Given the description of an element on the screen output the (x, y) to click on. 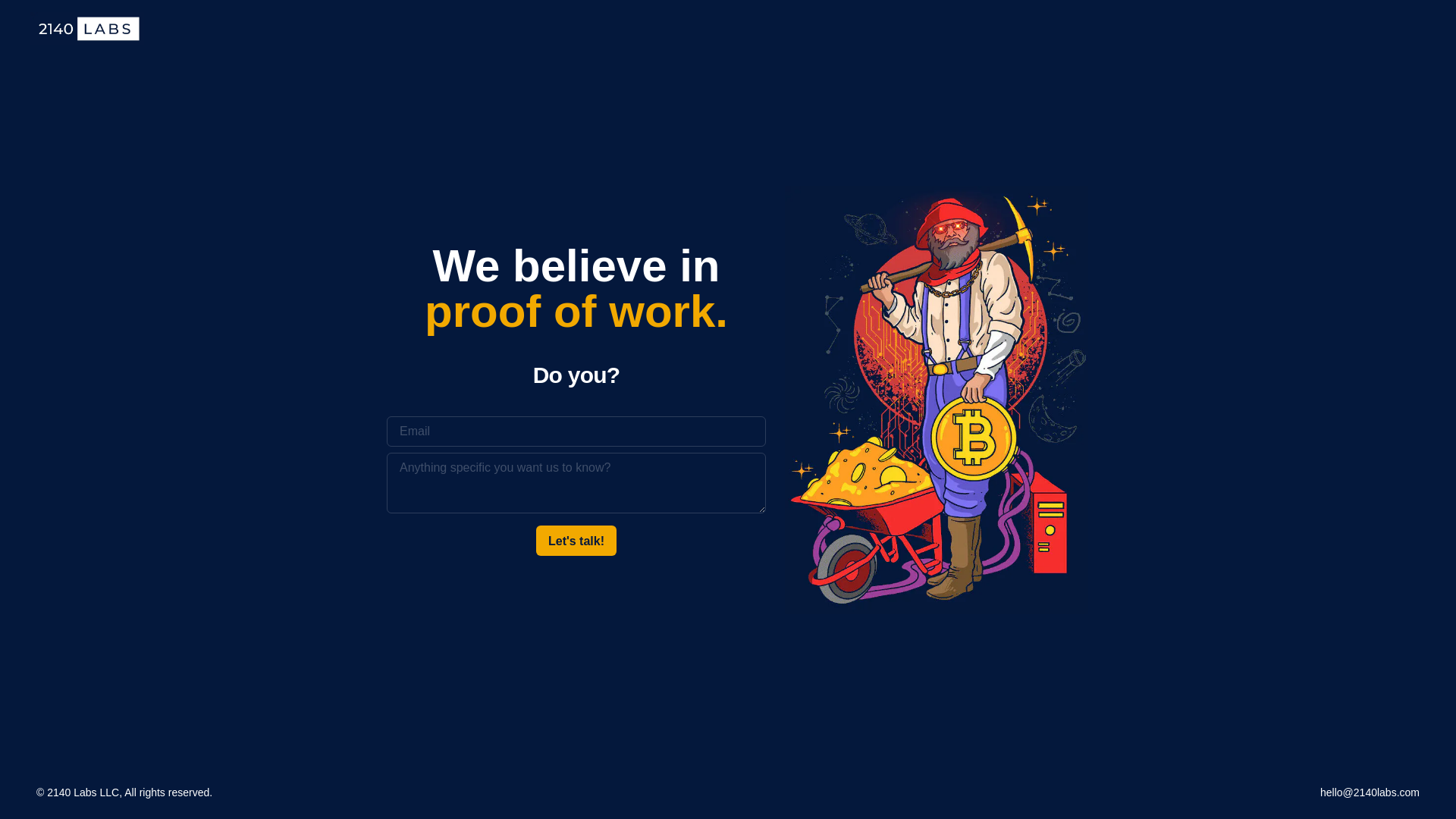
Let's talk! Element type: text (576, 540)
